Given the description of an element on the screen output the (x, y) to click on. 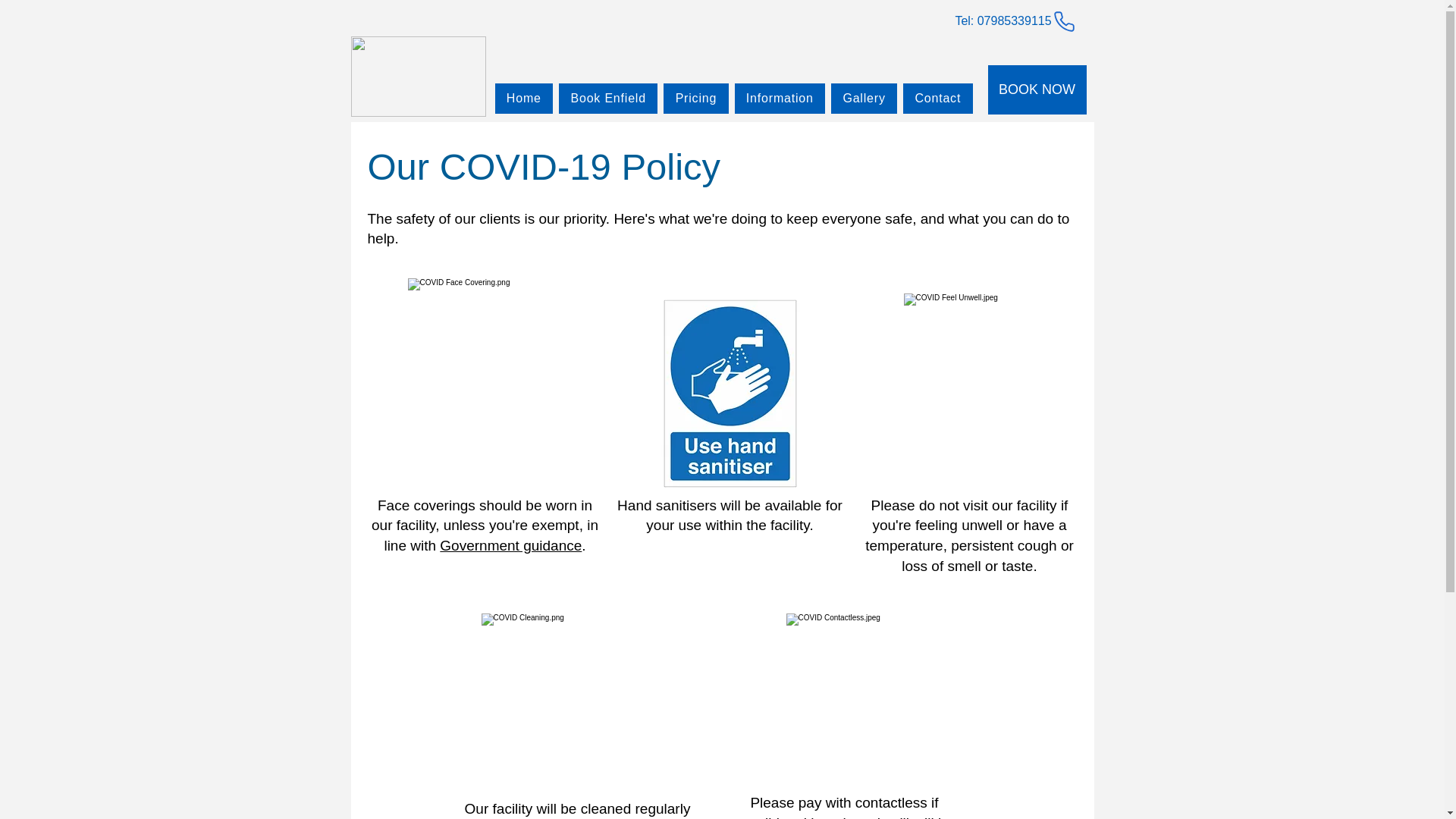
Pricing (695, 98)
Information (779, 98)
Contact (937, 98)
Government guidance (509, 545)
Home (524, 98)
Tel: 07985339115 (1015, 20)
BOOK NOW (1036, 89)
Book Enfield (608, 98)
Gallery (863, 98)
